Given the description of an element on the screen output the (x, y) to click on. 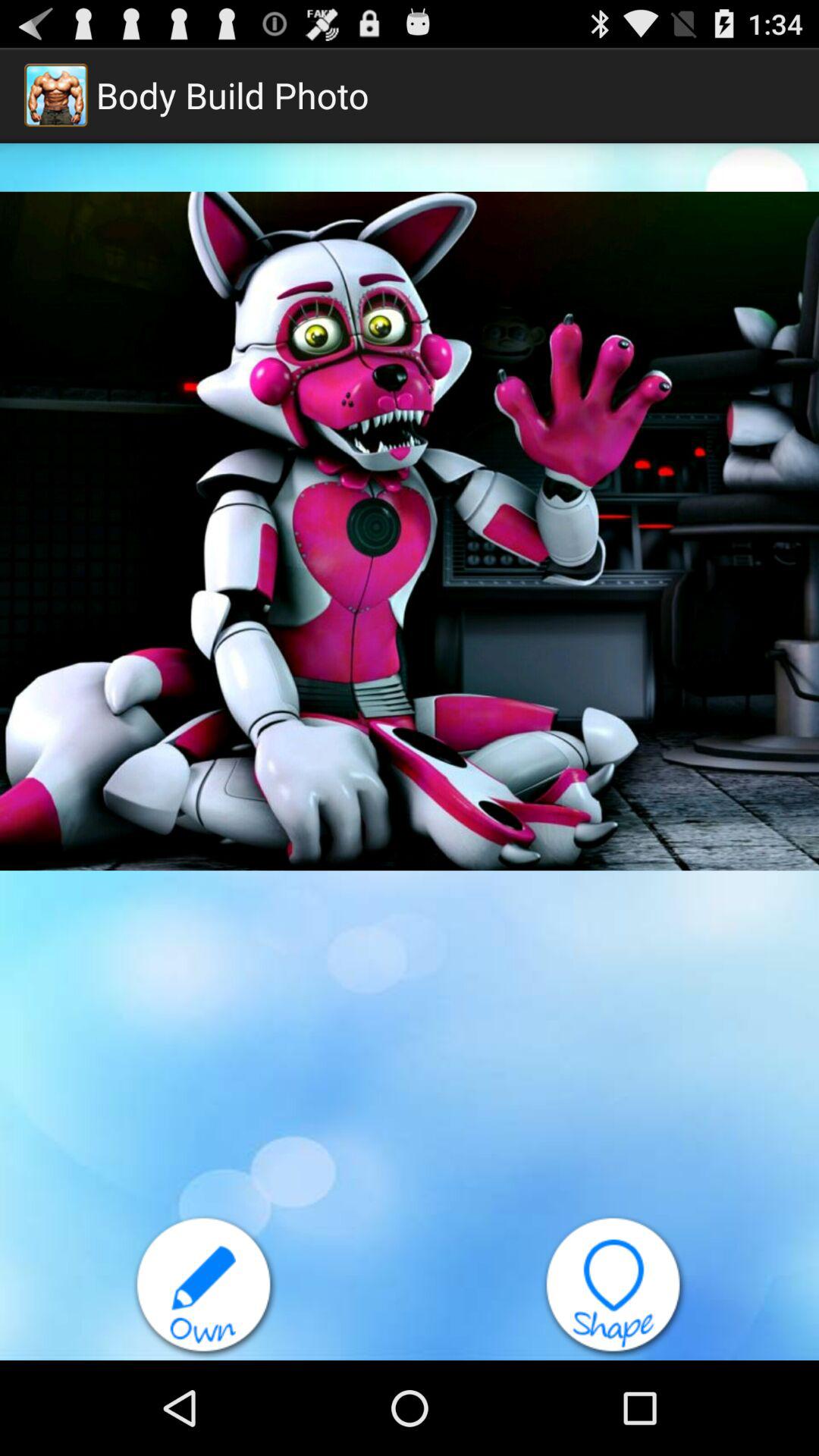
select item at the bottom left corner (204, 1287)
